Given the description of an element on the screen output the (x, y) to click on. 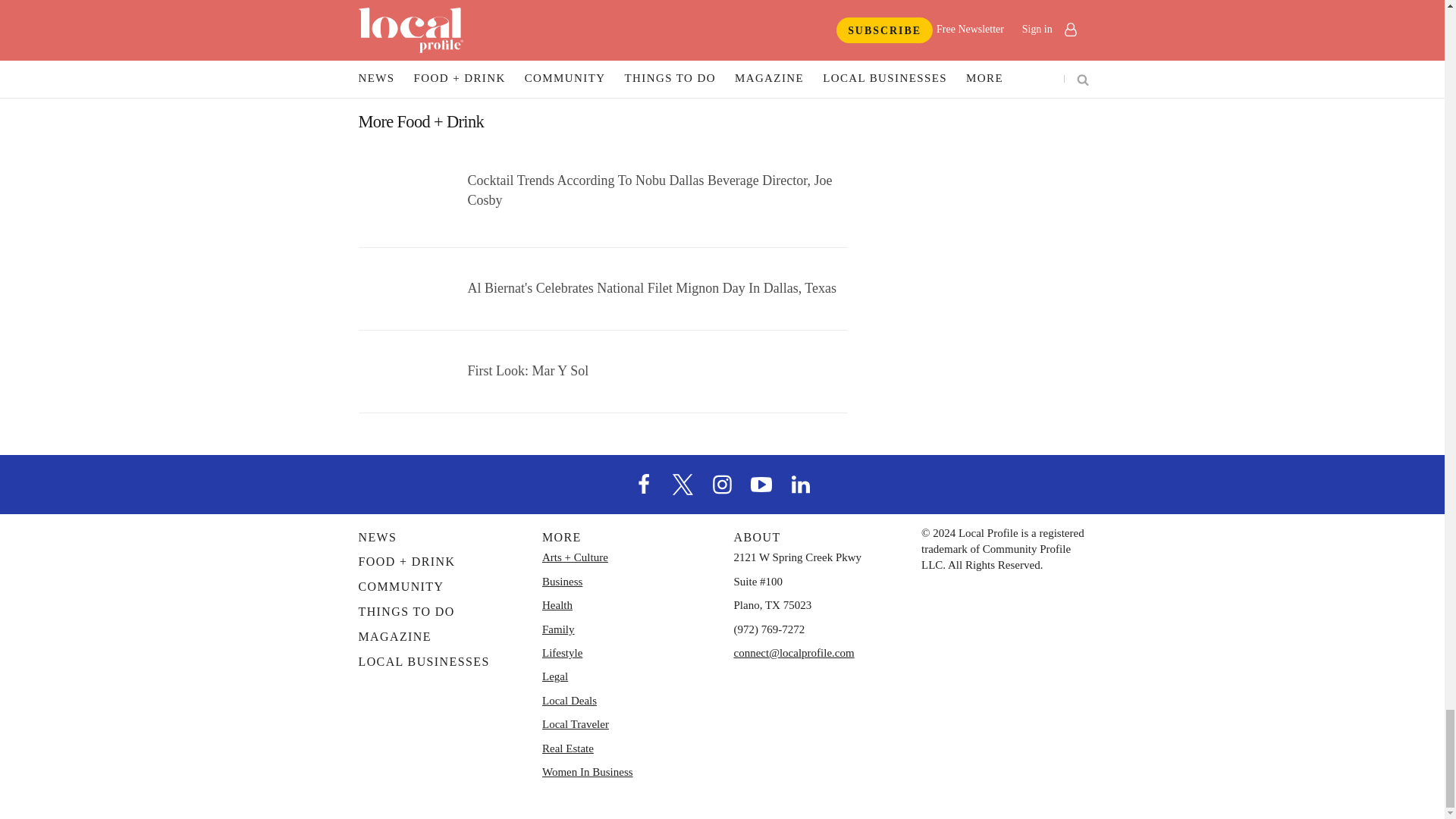
LinkedIn (800, 482)
X (683, 482)
Instagram (721, 482)
Facebook (644, 482)
YouTube (760, 482)
